Given the description of an element on the screen output the (x, y) to click on. 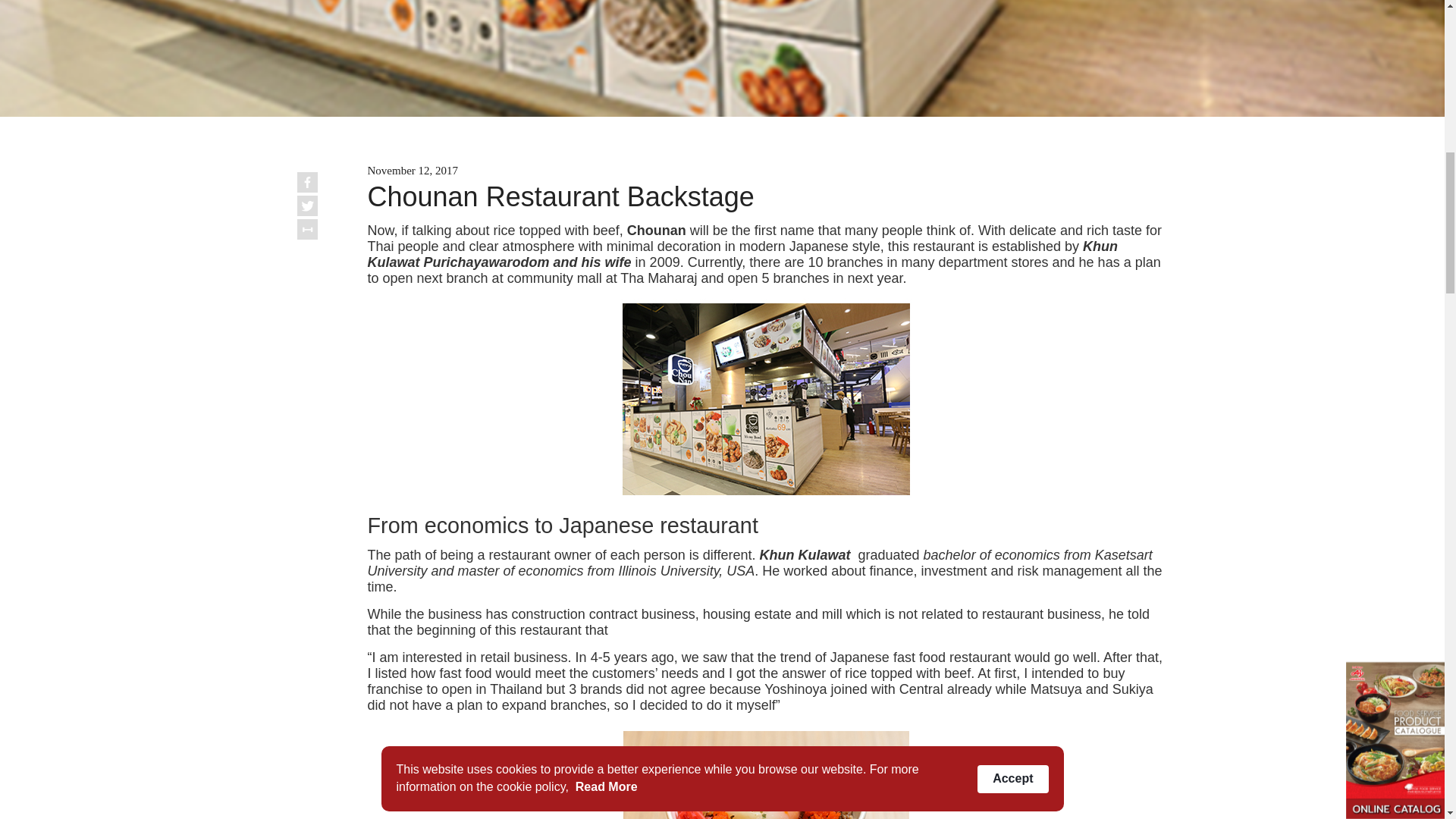
Facebook (307, 181)
Print (307, 229)
Twitter (307, 205)
